Given the description of an element on the screen output the (x, y) to click on. 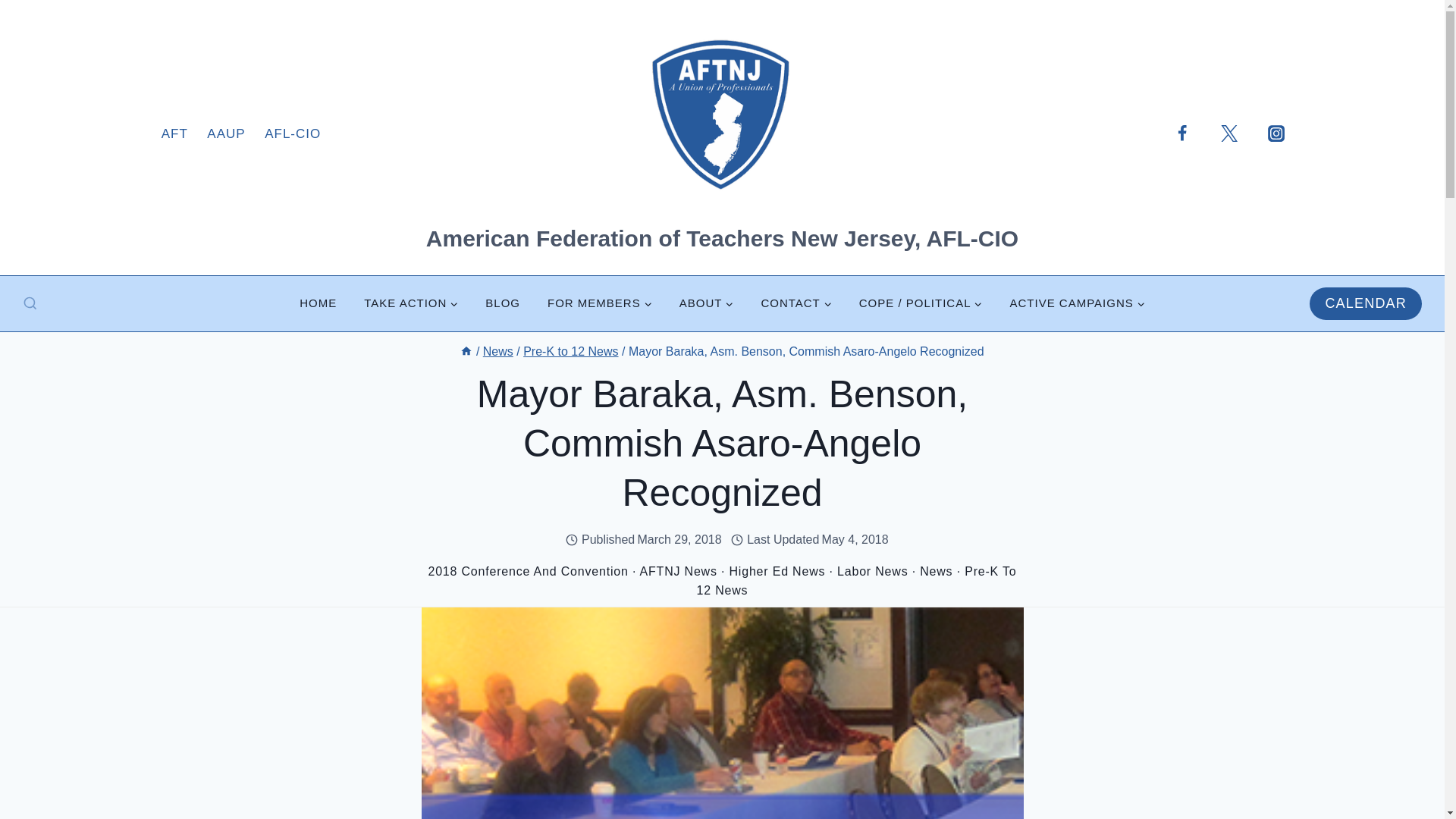
TAKE ACTION (410, 303)
AAUP (227, 134)
AFL-CIO (292, 134)
ABOUT (706, 303)
FOR MEMBERS (599, 303)
Home (465, 350)
AFT (174, 134)
BLOG (502, 303)
CONTACT (795, 303)
HOME (317, 303)
